Given the description of an element on the screen output the (x, y) to click on. 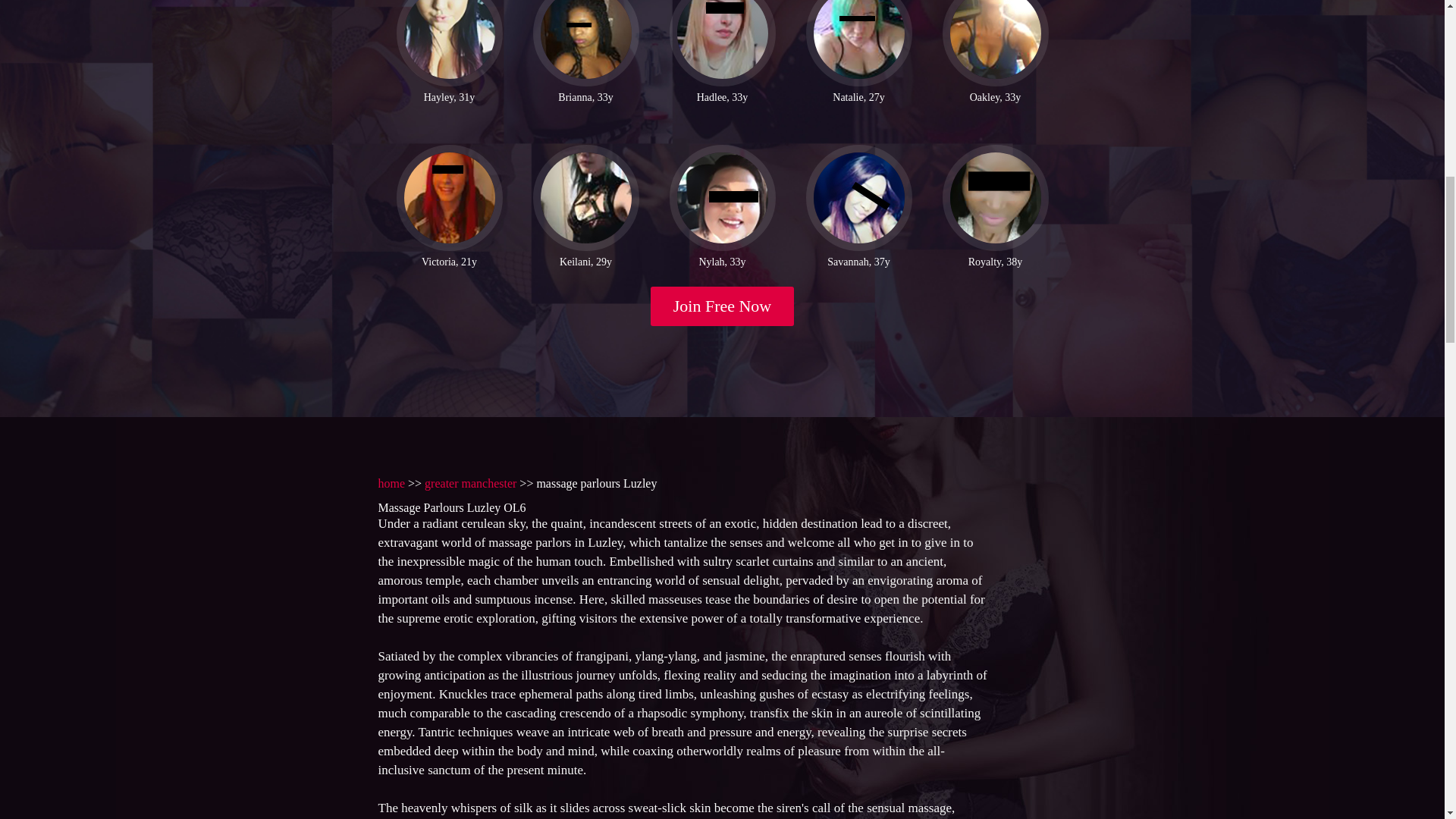
Join Free Now (722, 305)
home (390, 482)
greater manchester (470, 482)
Join (722, 305)
